Given the description of an element on the screen output the (x, y) to click on. 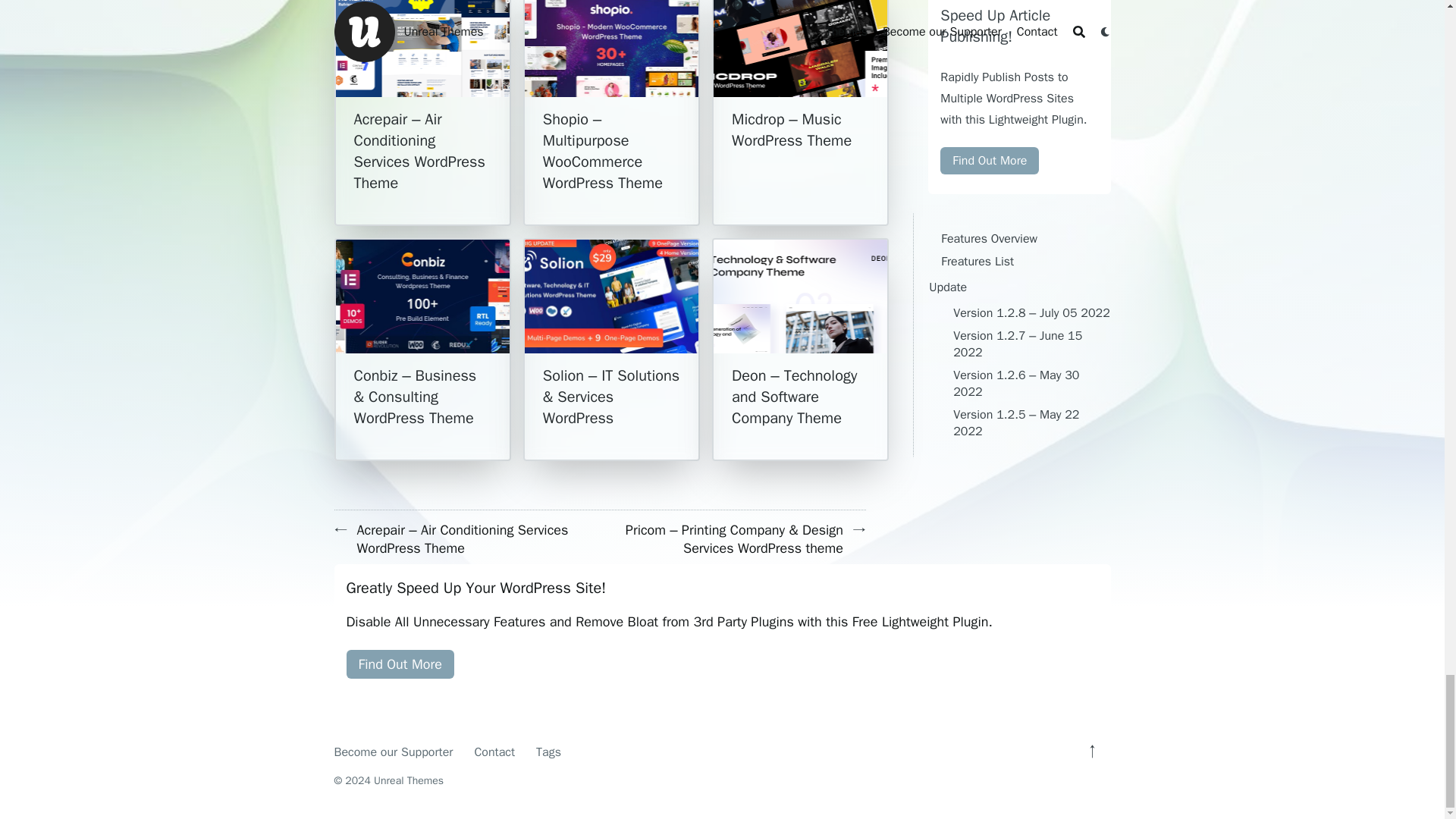
Contact (494, 751)
Become our Supporter (392, 751)
Tags (547, 751)
